Given the description of an element on the screen output the (x, y) to click on. 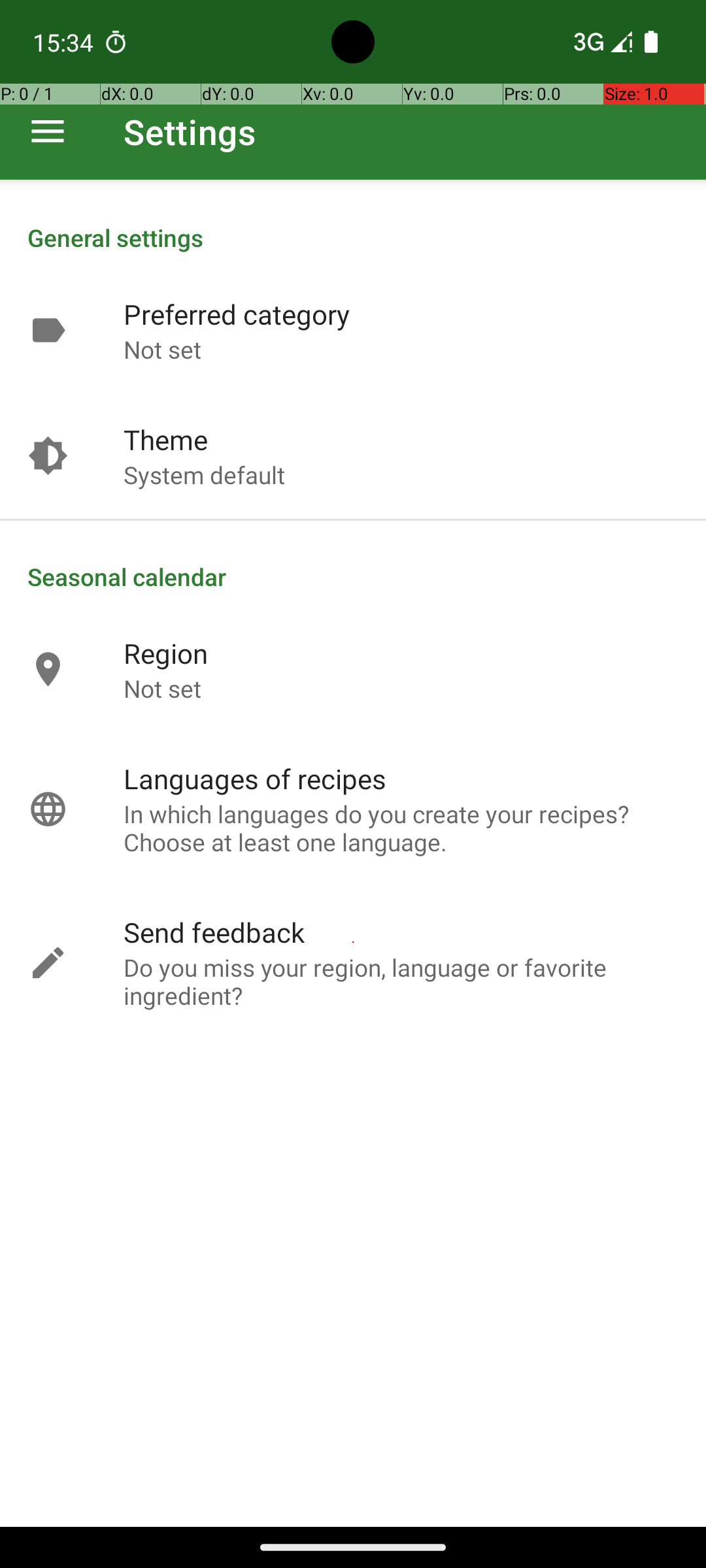
General settings Element type: android.widget.TextView (352, 237)
Preferred category Element type: android.widget.TextView (236, 313)
Not set Element type: android.widget.TextView (162, 348)
Region Element type: android.widget.TextView (165, 652)
Languages of recipes Element type: android.widget.TextView (254, 778)
In which languages do you create your recipes? Choose at least one language. Element type: android.widget.TextView (400, 827)
Do you miss your region, language or favorite ingredient? Element type: android.widget.TextView (400, 981)
